Given the description of an element on the screen output the (x, y) to click on. 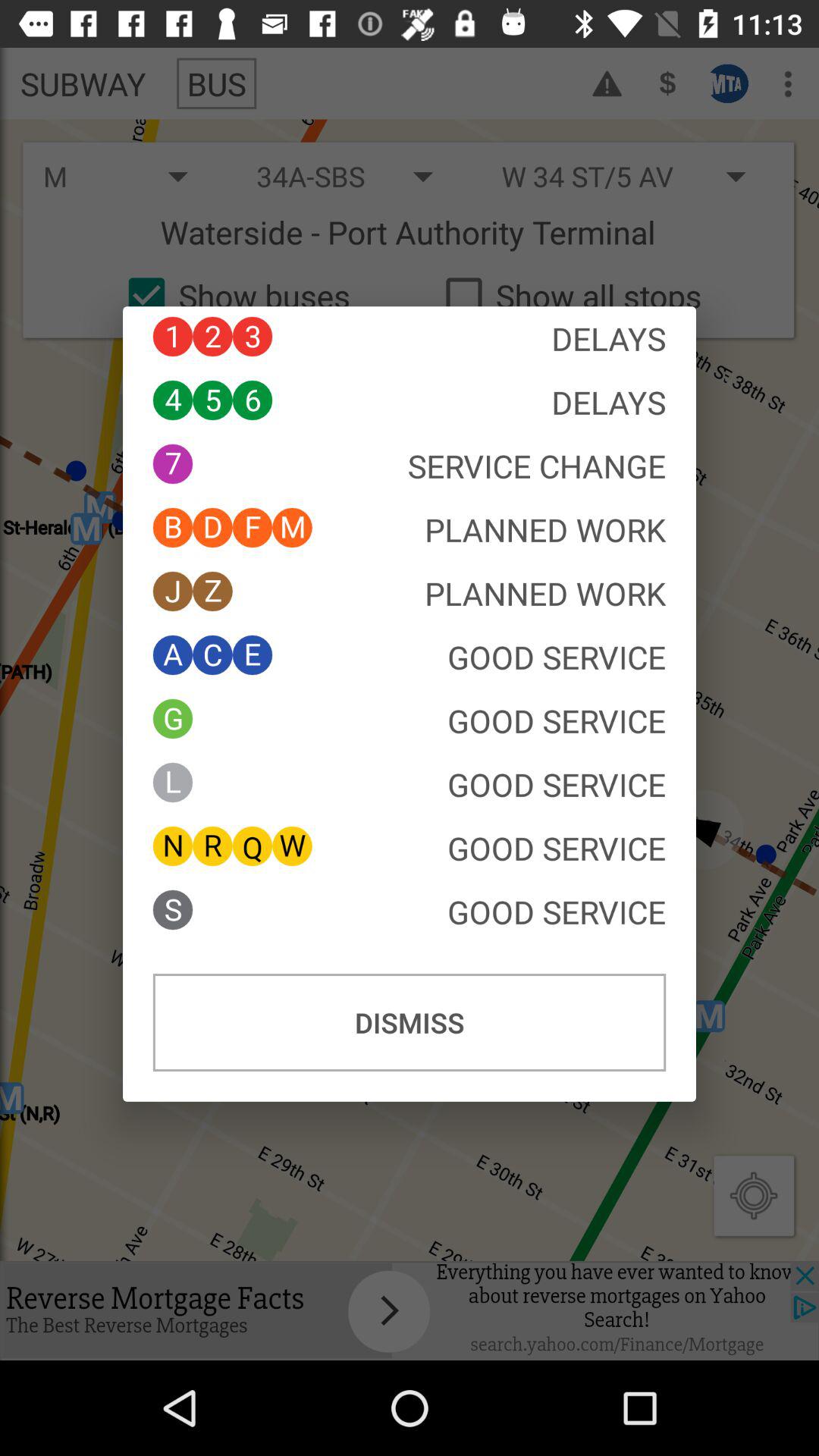
jump until dismiss (409, 1022)
